Given the description of an element on the screen output the (x, y) to click on. 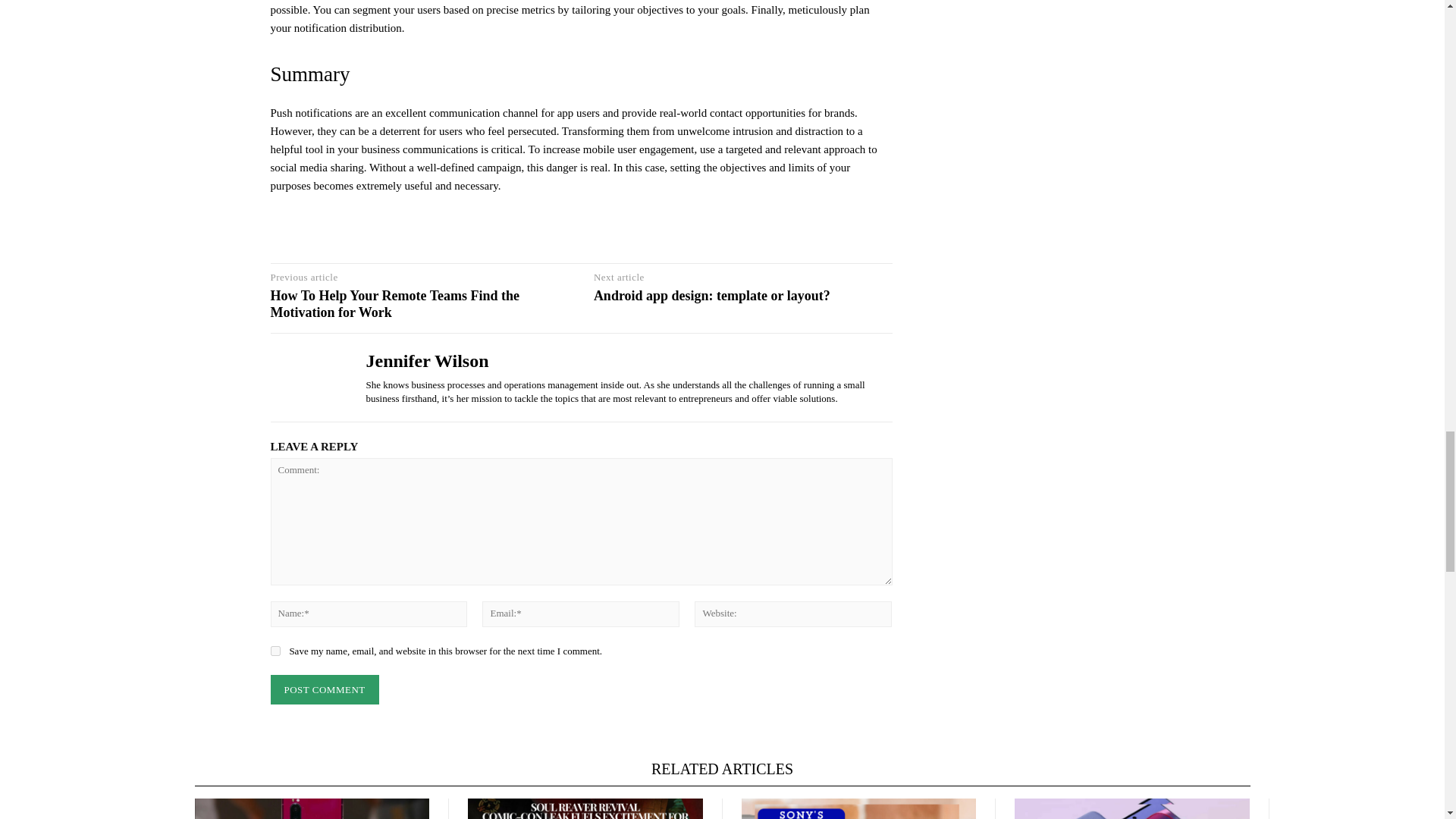
Post Comment (323, 689)
yes (274, 651)
Jennifer Wilson (305, 377)
